Given the description of an element on the screen output the (x, y) to click on. 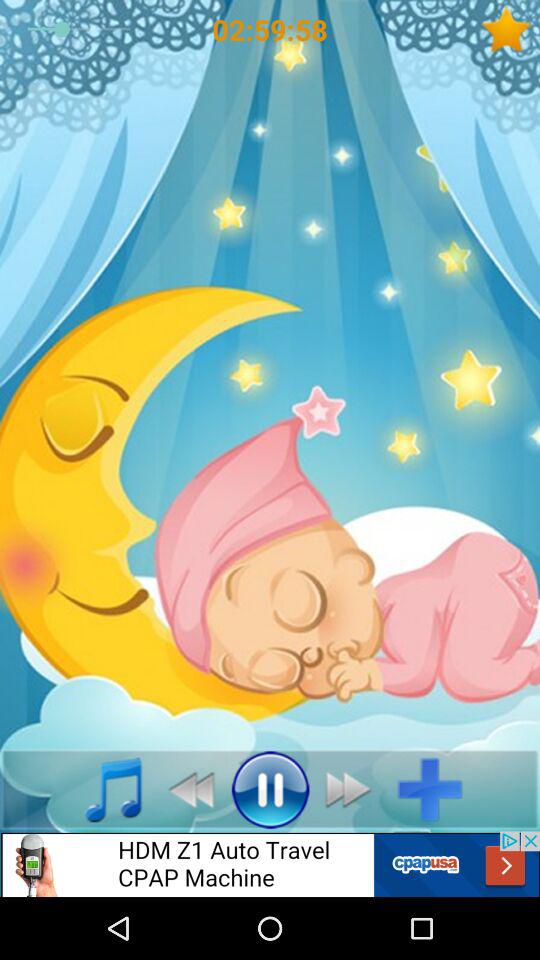
pause option (269, 789)
